Given the description of an element on the screen output the (x, y) to click on. 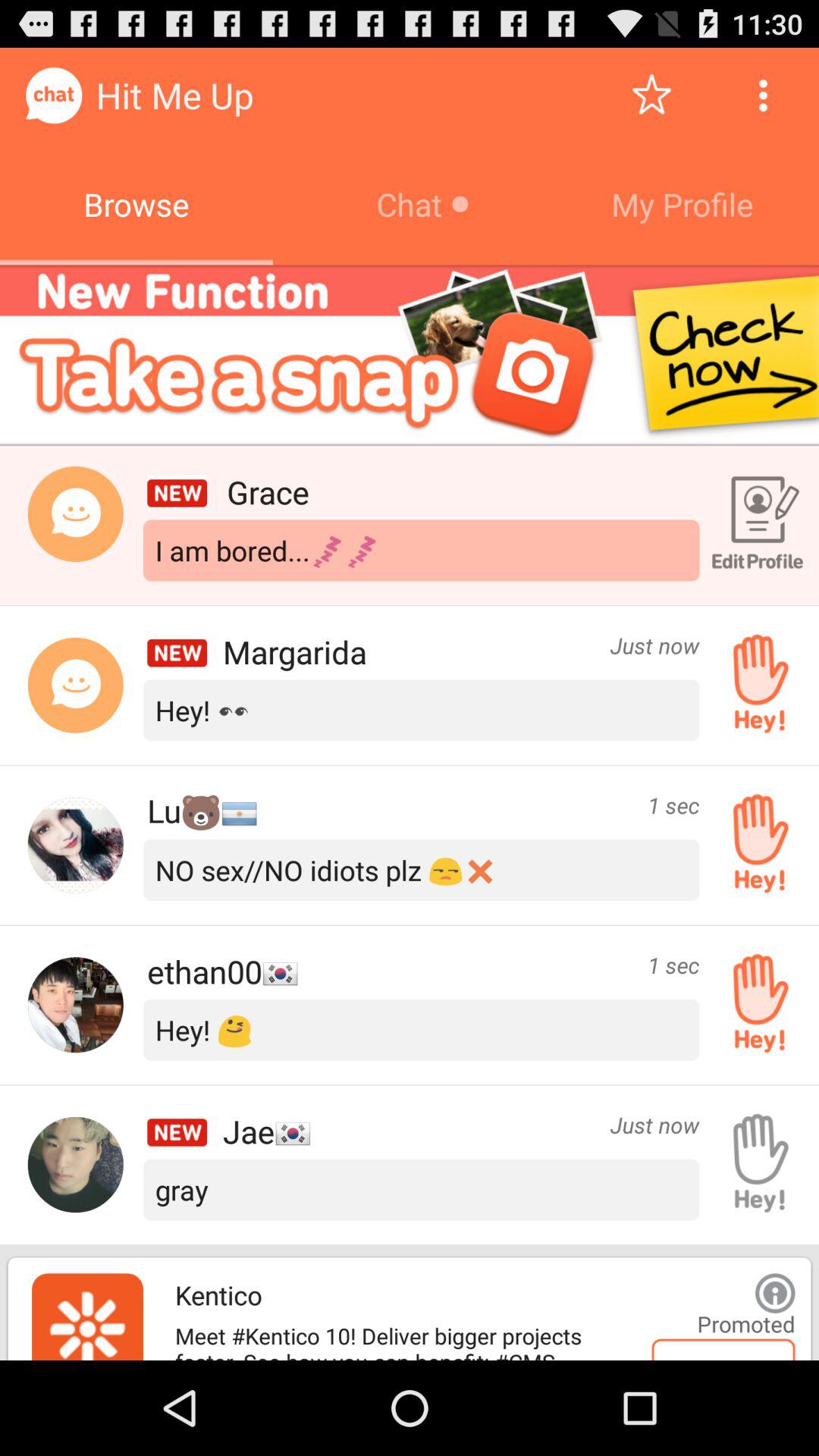
favorite this (651, 95)
